Given the description of an element on the screen output the (x, y) to click on. 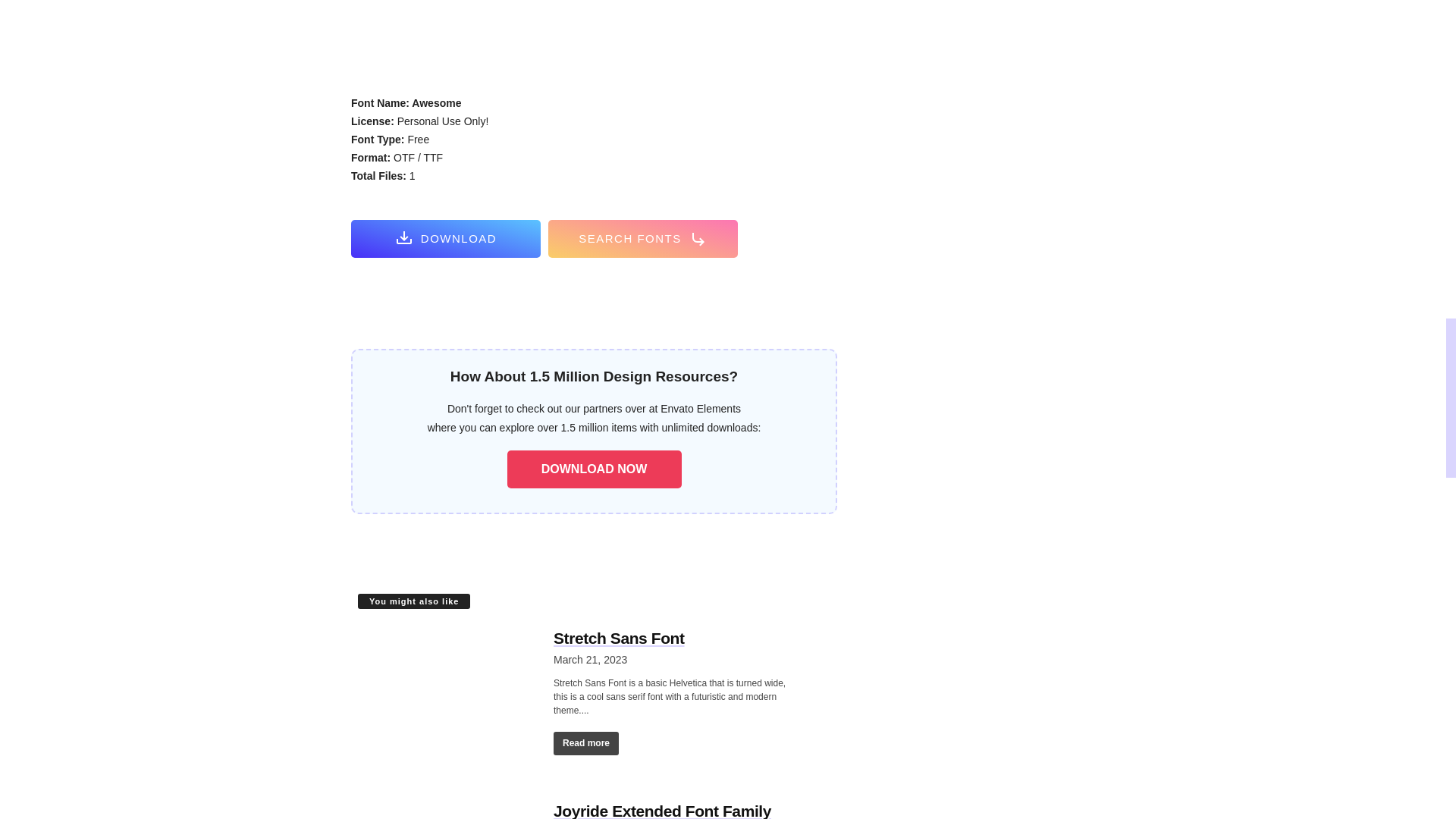
Joyride Extended Font Family (662, 810)
Stretch Sans Font (448, 692)
Joyride Extended Font Family (448, 808)
Stretch Sans Font (618, 638)
